Given the description of an element on the screen output the (x, y) to click on. 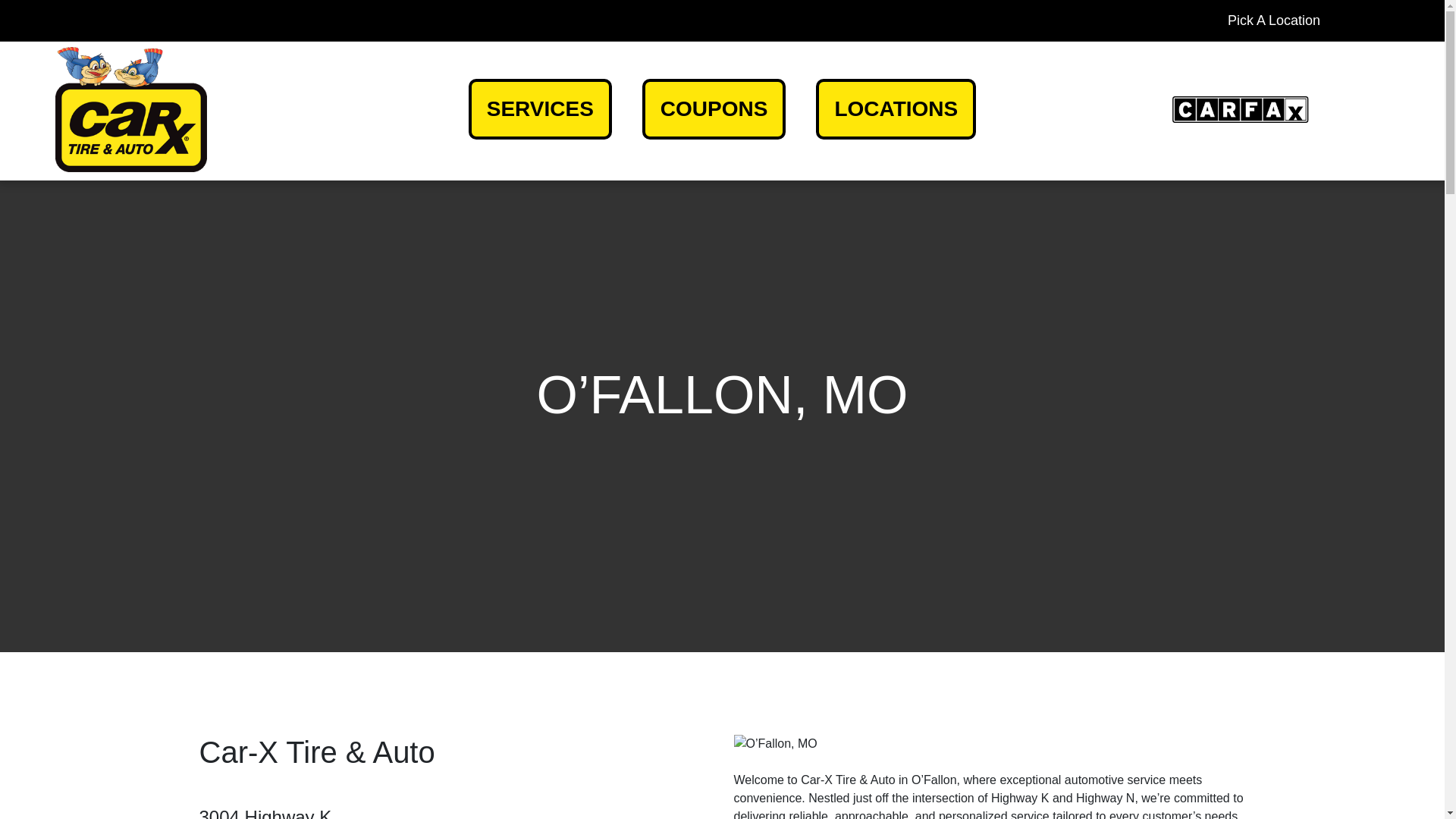
Car-X (130, 108)
COUPONS (714, 108)
SERVICES (539, 108)
Car-X (1243, 109)
LOCATIONS (895, 108)
